Given the description of an element on the screen output the (x, y) to click on. 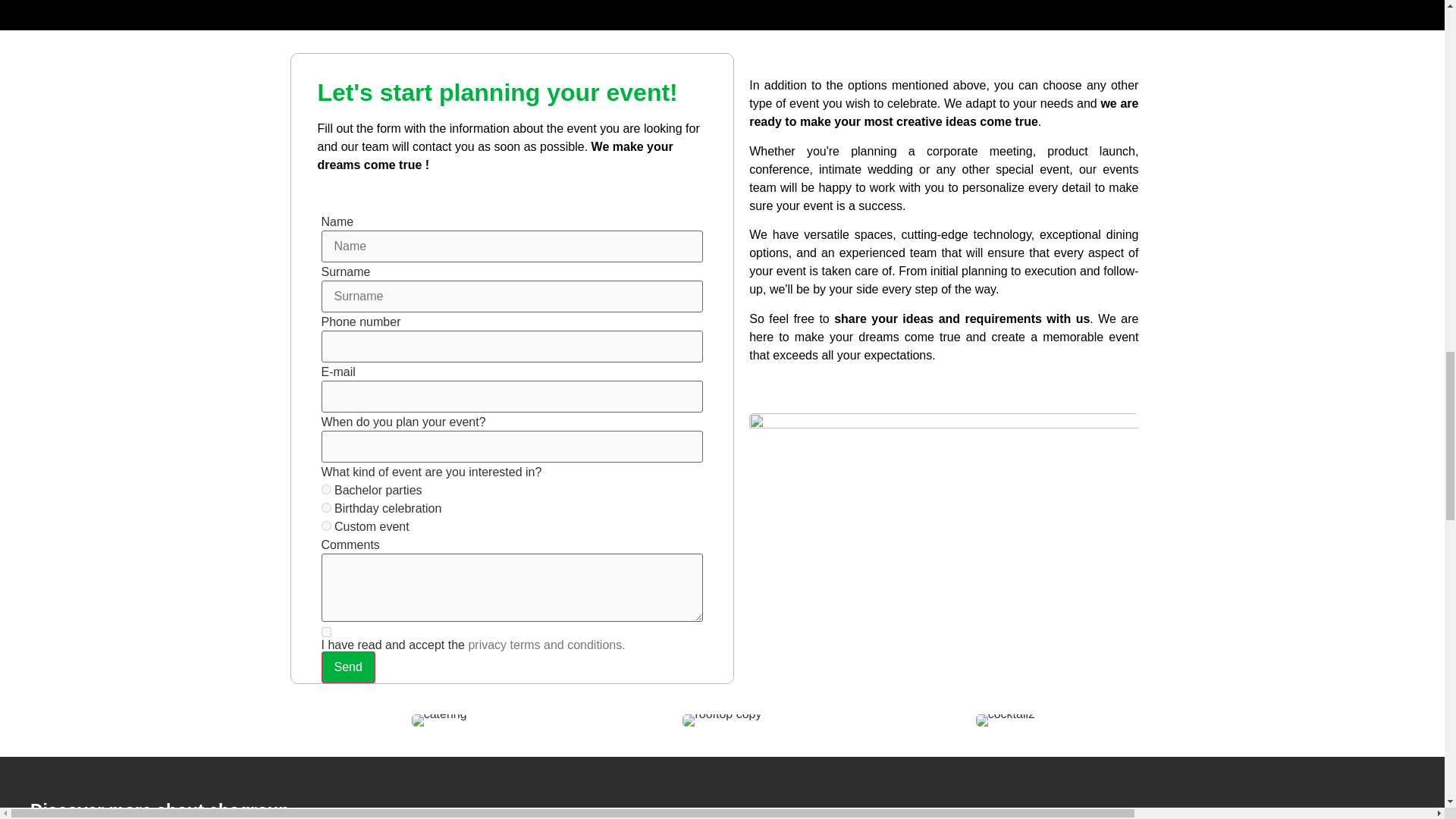
Evento personalizado (326, 525)
on (326, 632)
Despedida de soltero (326, 489)
